Given the description of an element on the screen output the (x, y) to click on. 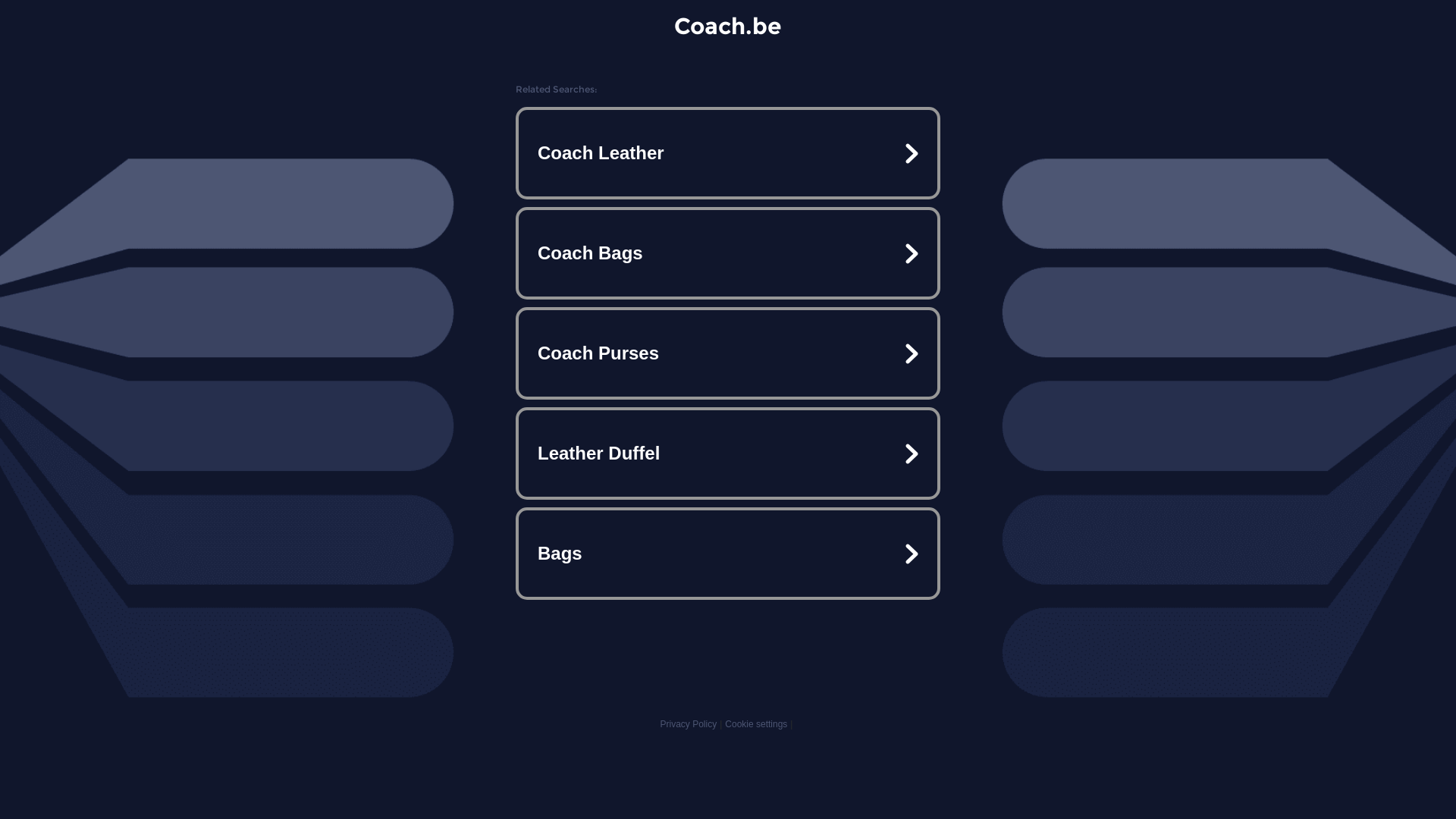
Cookie settings Element type: text (755, 723)
Privacy Policy Element type: text (687, 723)
Leather Duffel Element type: text (727, 453)
Coach Leather Element type: text (727, 152)
Coach Bags Element type: text (727, 253)
Bags Element type: text (727, 553)
Coach.be Element type: text (727, 26)
Coach Purses Element type: text (727, 353)
